Given the description of an element on the screen output the (x, y) to click on. 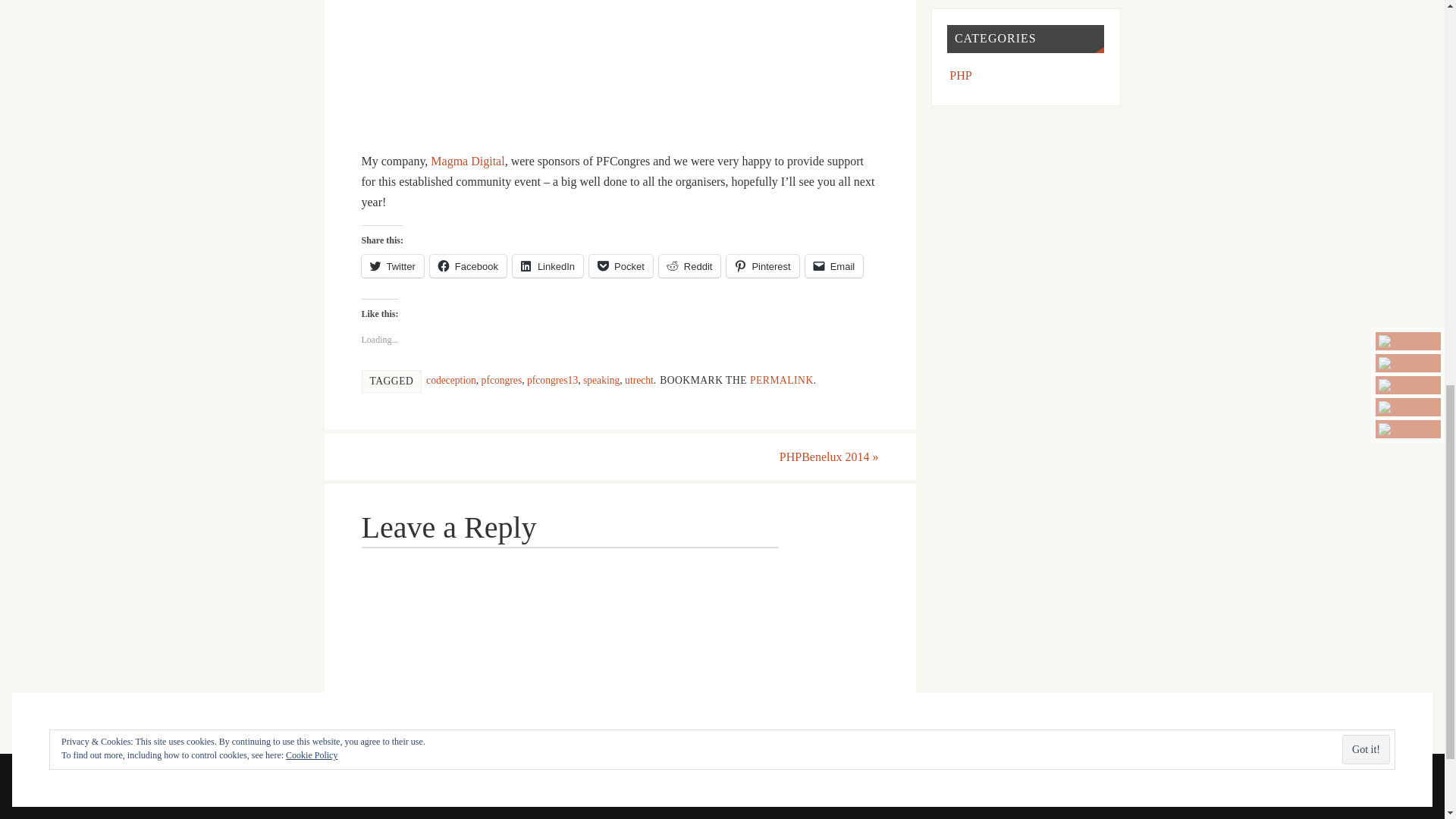
Email (834, 265)
pfcongres13 (552, 379)
Twitter (392, 265)
speaking (601, 379)
LinkedIn (547, 265)
Magma Digital (466, 160)
Pinterest (761, 265)
pfcongres (501, 379)
Reddit (689, 265)
Facebook (467, 265)
codeception (451, 379)
Pocket (620, 265)
